Given the description of an element on the screen output the (x, y) to click on. 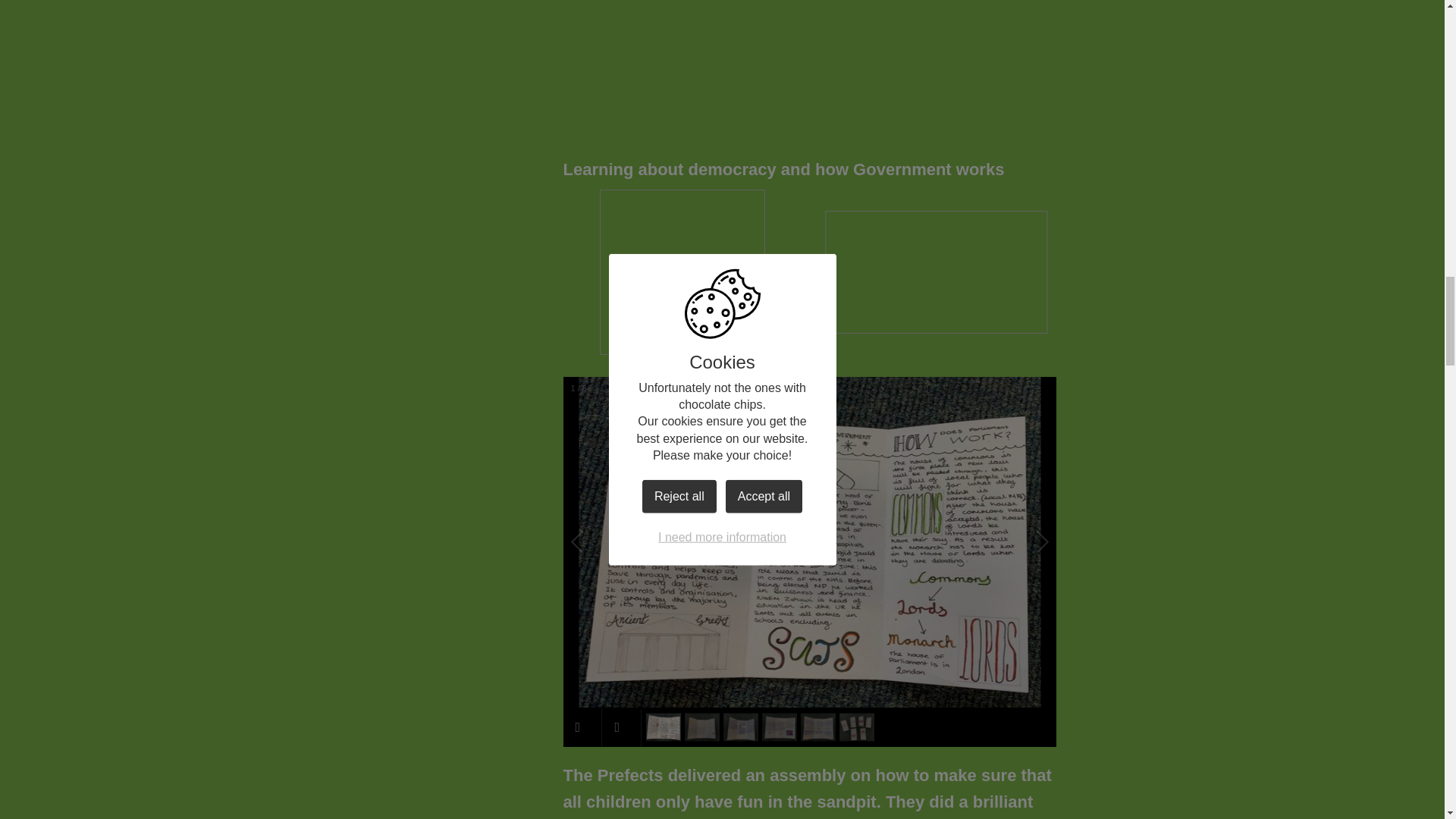
View large version of image (935, 271)
View large version of image (682, 271)
